Given the description of an element on the screen output the (x, y) to click on. 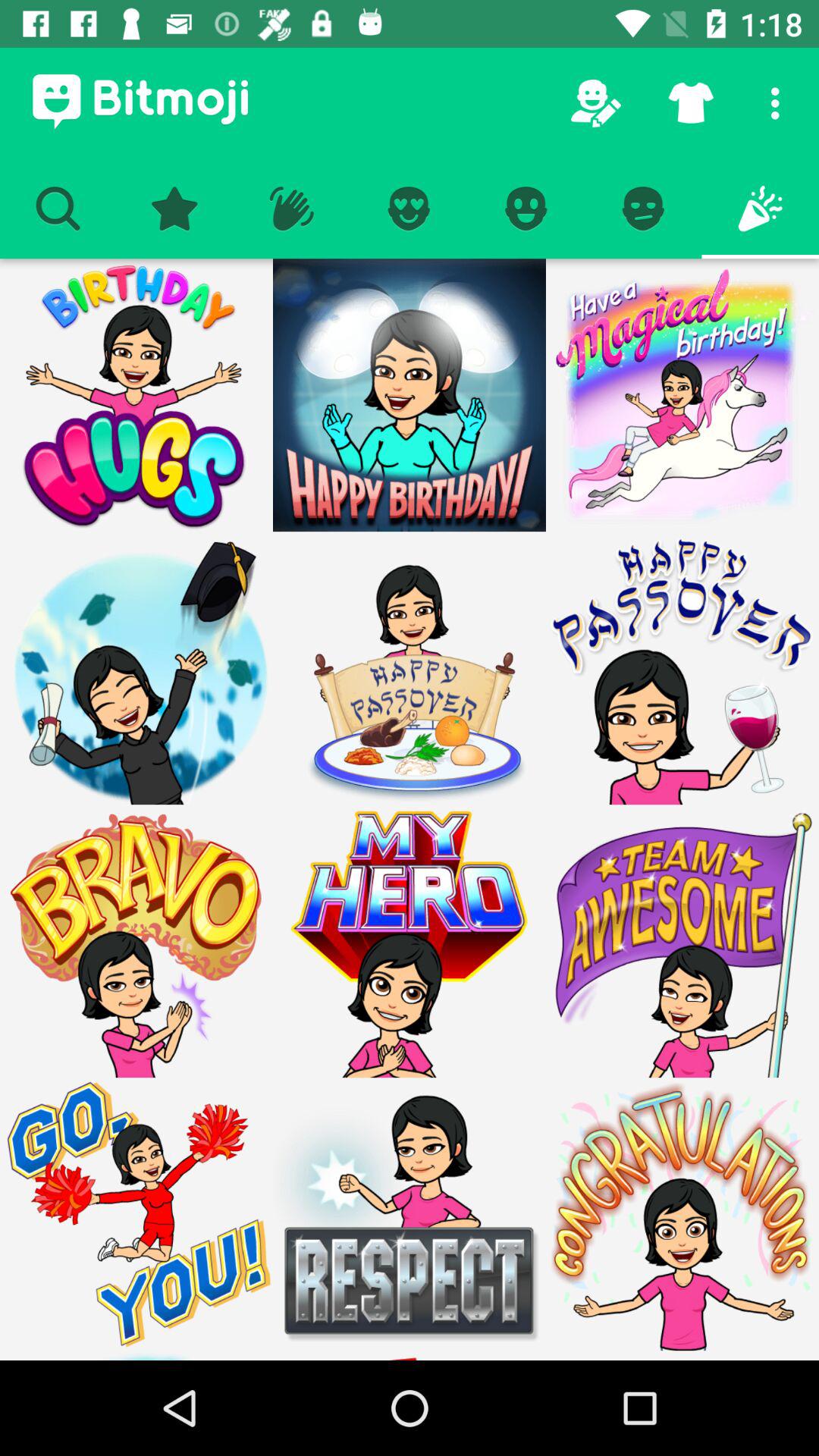
view image (409, 1213)
